Given the description of an element on the screen output the (x, y) to click on. 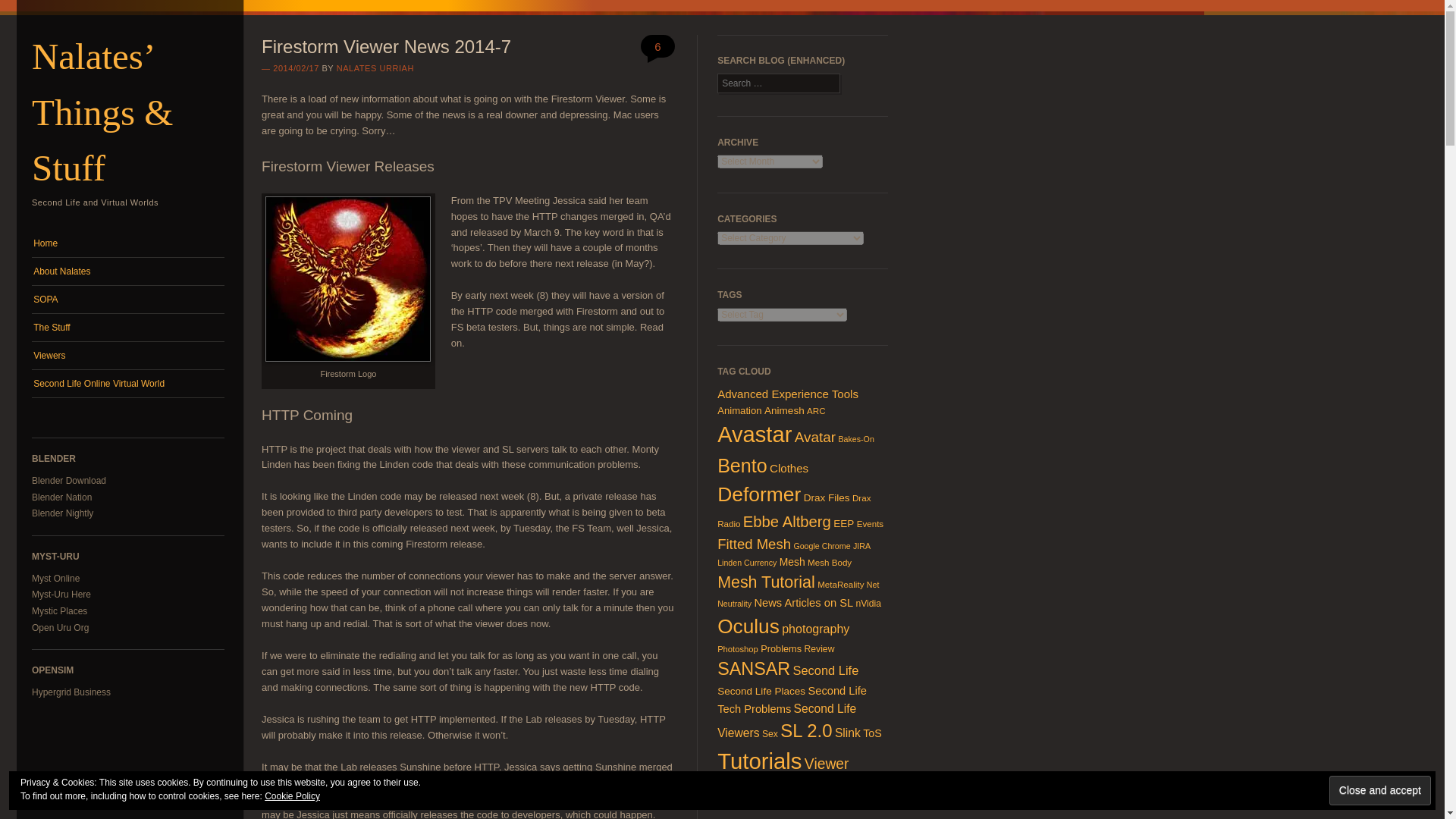
Images from RL of Myst Uru like place (59, 611)
Second Life Online Virtual World (128, 383)
My Myst Articles (61, 593)
Home (128, 243)
Mystic Places (59, 611)
Skip to content (61, 236)
Blender Nation (61, 497)
Download the latest Blender version. (69, 480)
Advertisement (128, 766)
About Nalates (128, 271)
Myst Uru Web Site (56, 578)
Blender Nightly (62, 512)
SOPA (128, 298)
Open Uru Org (60, 627)
Close and accept (1380, 790)
